Given the description of an element on the screen output the (x, y) to click on. 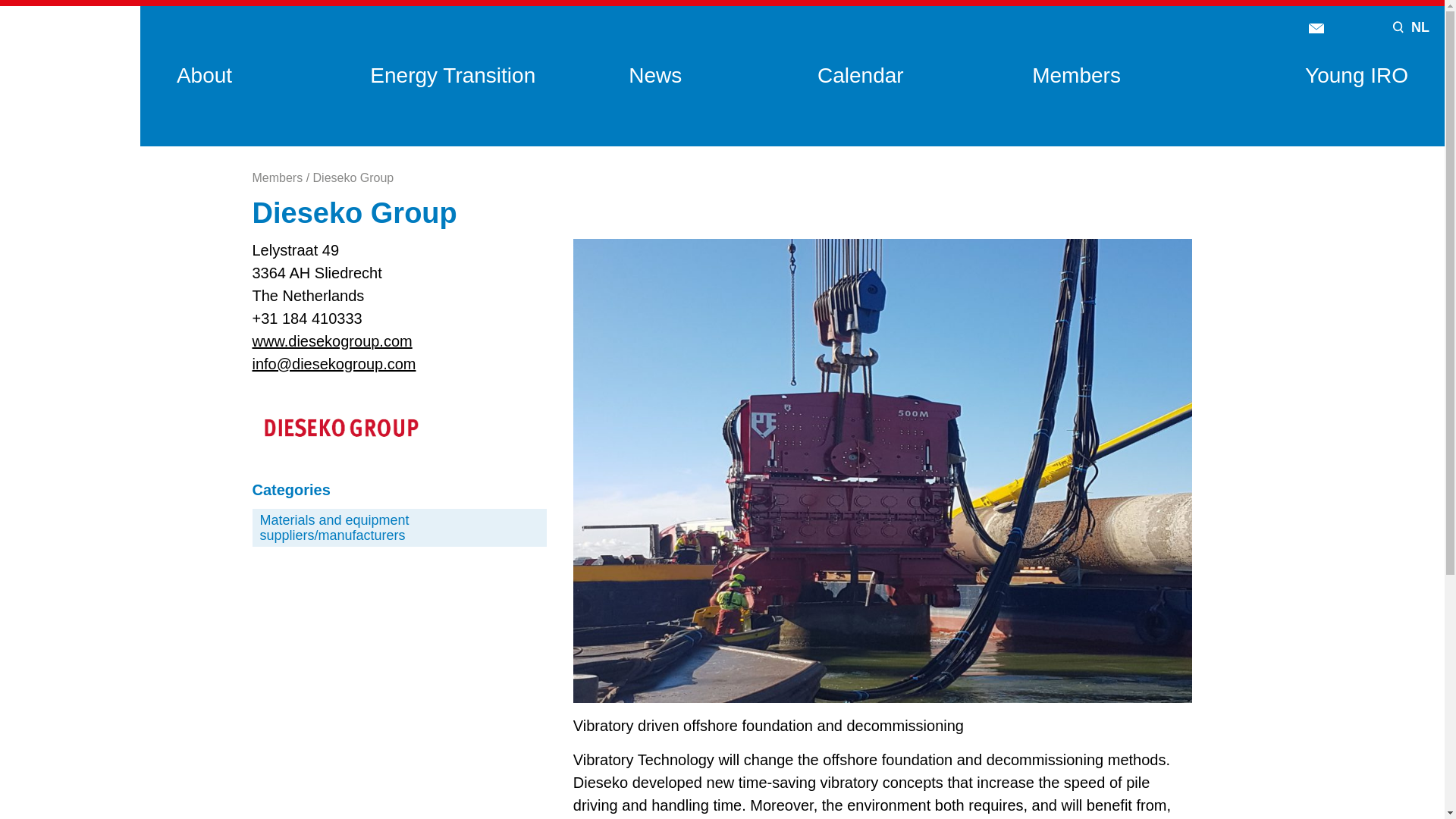
Young IRO (1355, 75)
Energy Transition (452, 75)
News (654, 75)
NL (1419, 27)
Members (1076, 75)
Calendar (860, 75)
About (203, 75)
